Given the description of an element on the screen output the (x, y) to click on. 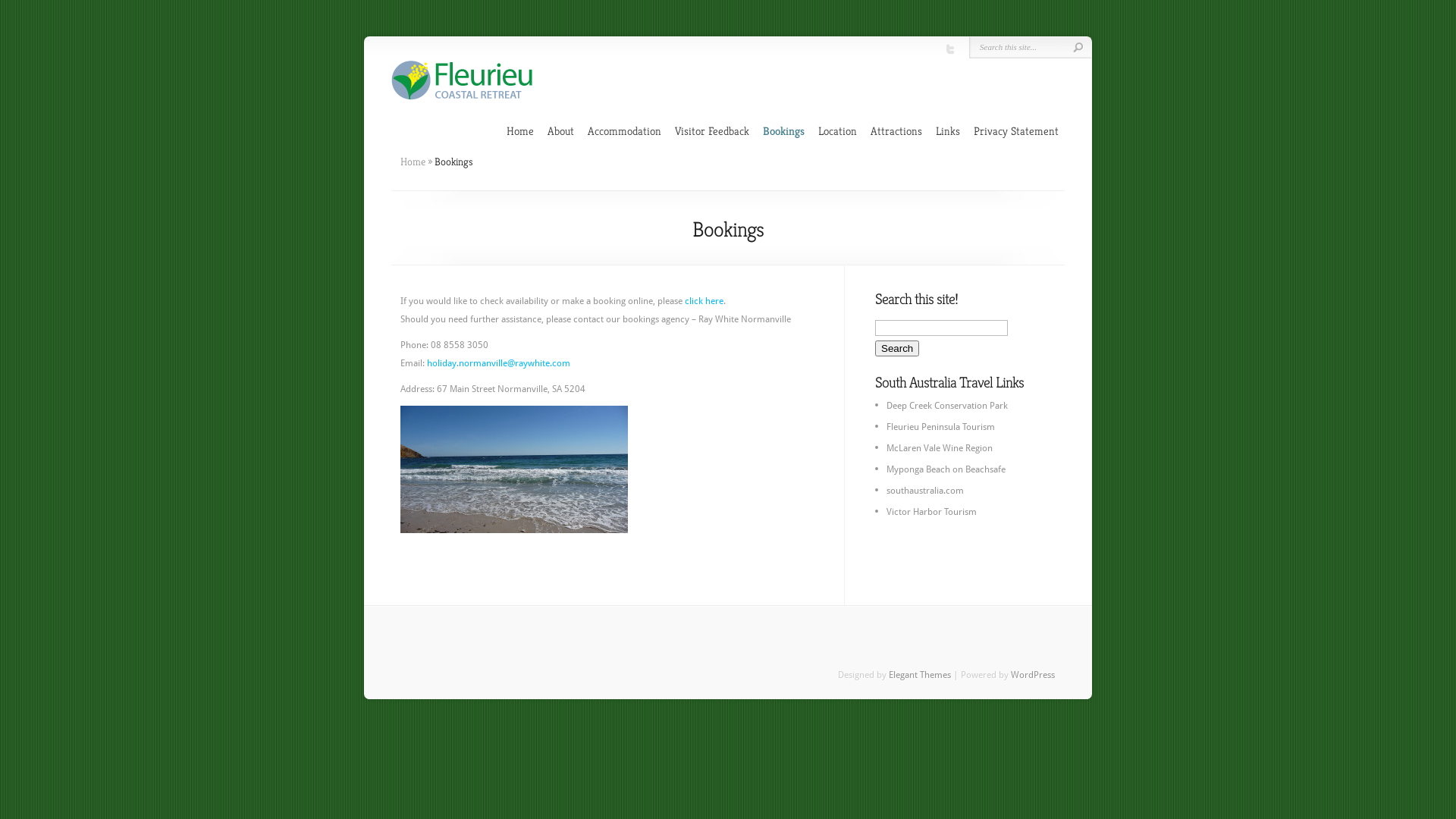
click here Element type: text (703, 300)
Myponga Beach on Beachsafe Element type: text (945, 469)
holiday.normanville@raywhite.com Element type: text (498, 362)
About Element type: text (560, 130)
Deep Creek Conservation Park Element type: text (946, 405)
Home Element type: text (412, 161)
McLaren Vale Wine Region Element type: text (939, 447)
Home Element type: text (519, 130)
southaustralia.com Element type: text (924, 490)
Attractions Element type: text (896, 130)
Links Element type: text (947, 130)
Victor Harbor Tourism Element type: text (931, 511)
Accommodation Element type: text (624, 130)
WordPress Element type: text (1032, 674)
Search Element type: text (897, 348)
Fleurieu Peninsula Tourism Element type: text (940, 426)
Location Element type: text (837, 130)
Elegant Themes Element type: text (919, 674)
Visitor Feedback Element type: text (711, 130)
Bookings Element type: text (783, 130)
Privacy Statement Element type: text (1015, 130)
